Given the description of an element on the screen output the (x, y) to click on. 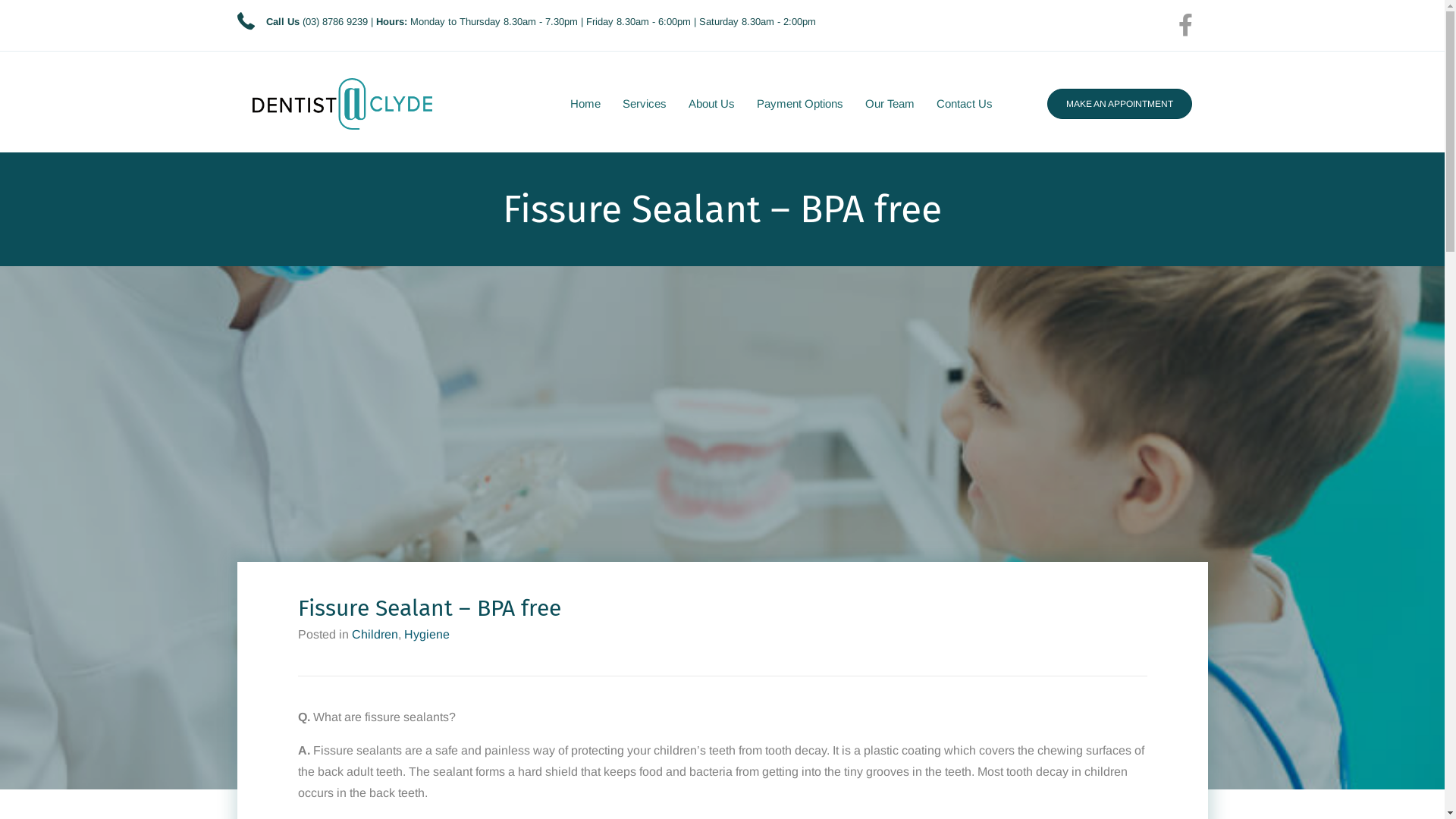
Our Team Element type: text (889, 103)
Children Element type: text (374, 633)
Payment Options Element type: text (799, 103)
Hygiene Element type: text (425, 633)
About Us Element type: text (711, 103)
Home Element type: text (585, 103)
dentistatclyde_logo Element type: hover (341, 103)
Services Element type: text (644, 103)
Contact Us Element type: text (964, 103)
MAKE AN APPOINTMENT Element type: text (1119, 103)
